Given the description of an element on the screen output the (x, y) to click on. 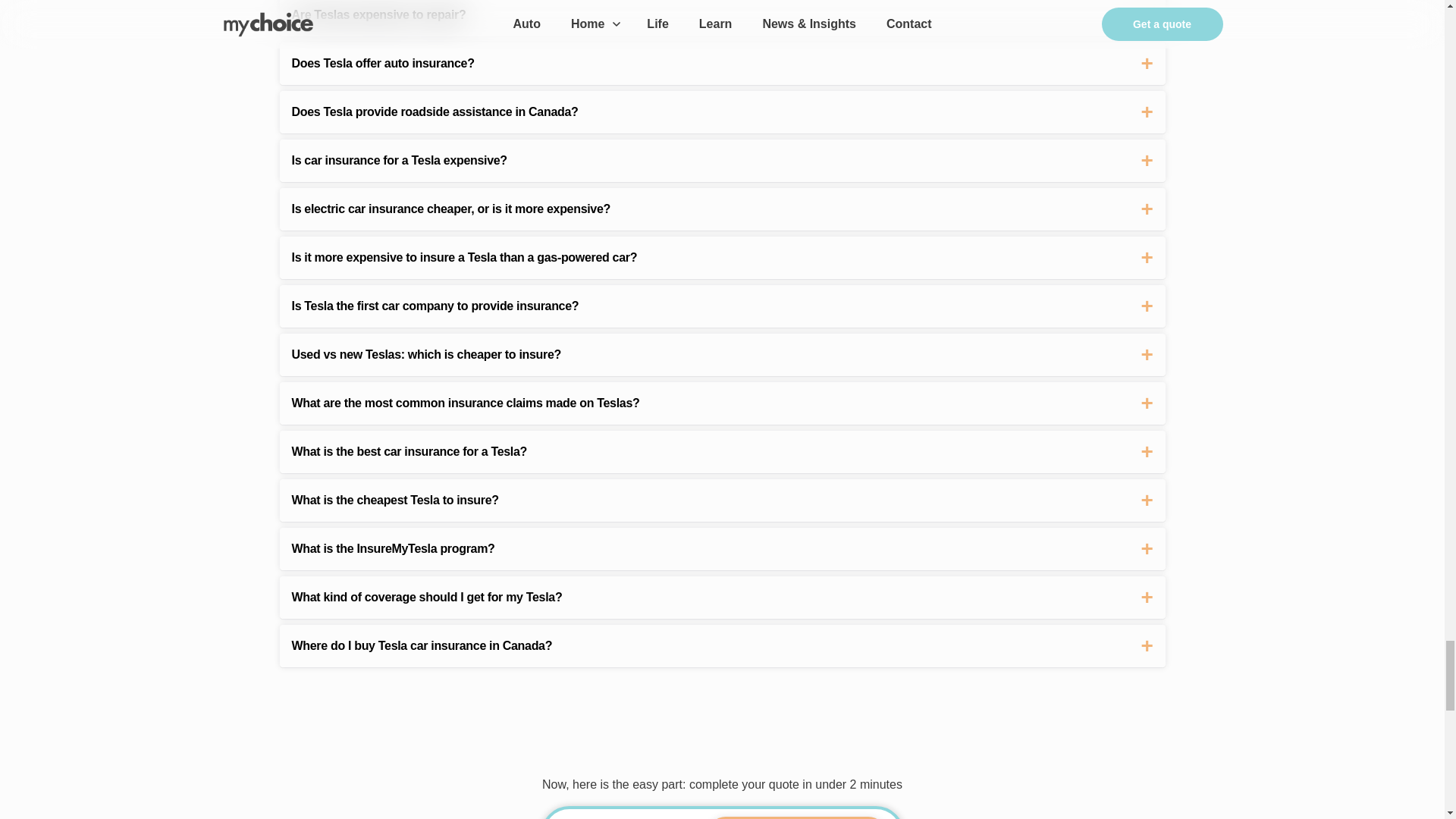
View My Quote (795, 817)
